Given the description of an element on the screen output the (x, y) to click on. 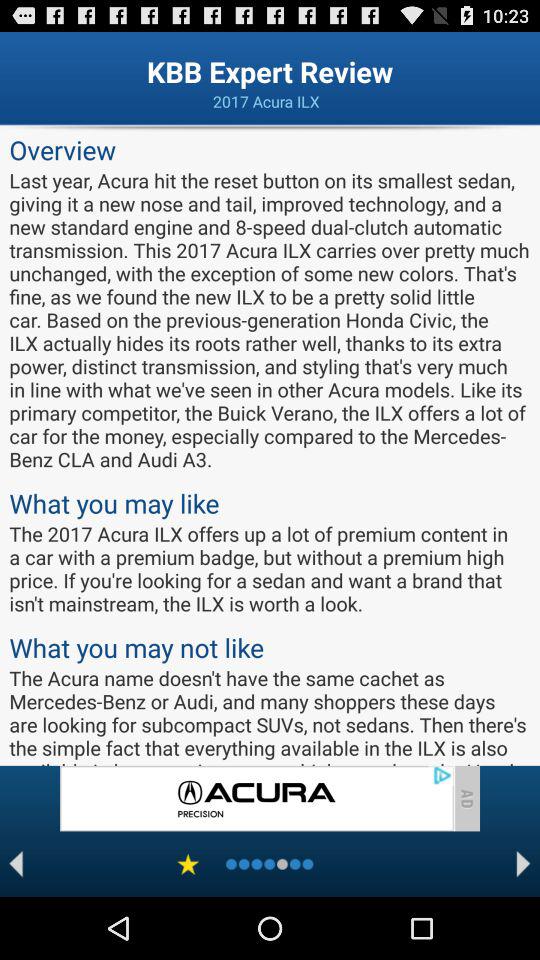
go to advertisement page (256, 798)
